Given the description of an element on the screen output the (x, y) to click on. 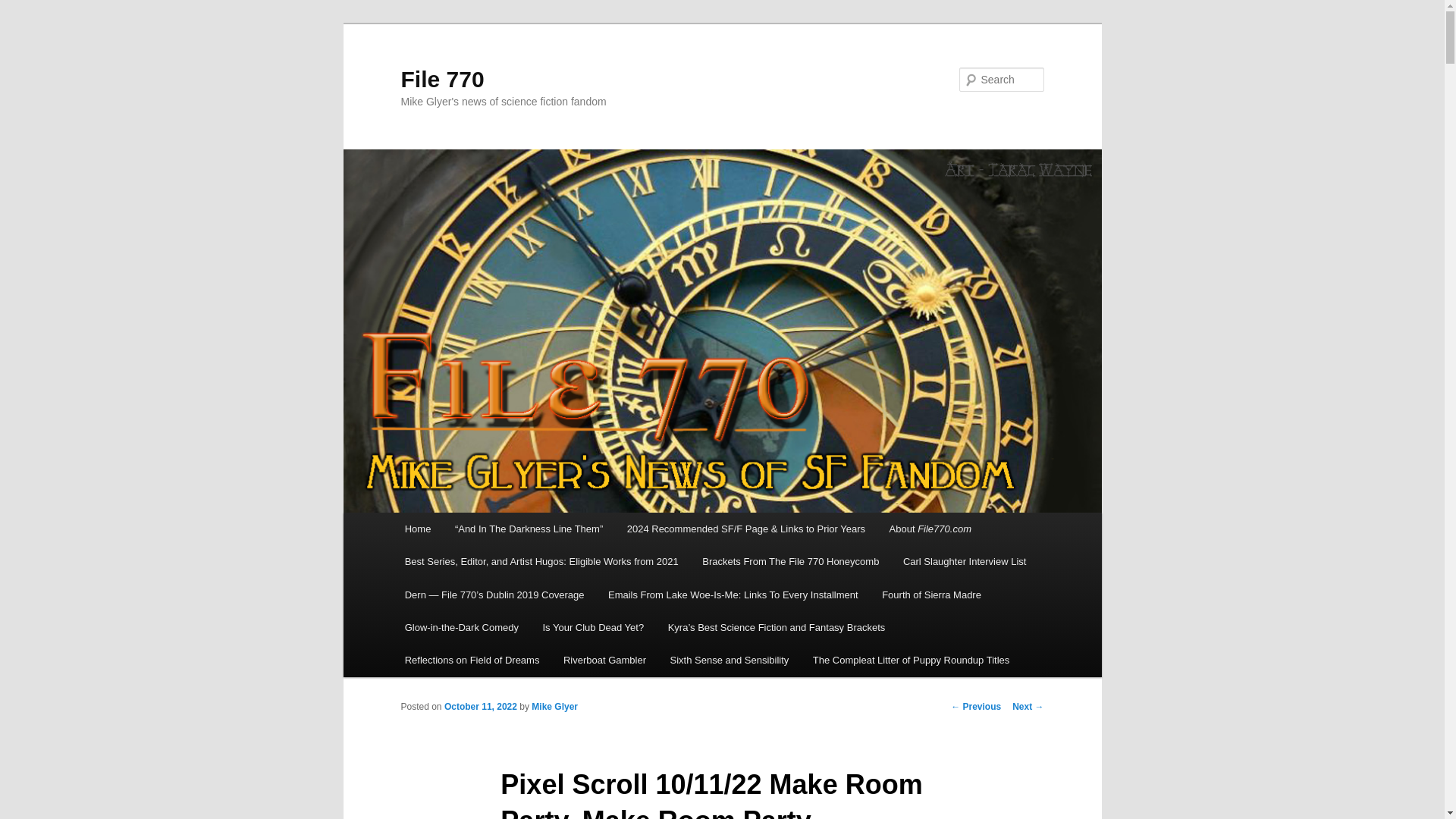
Home (417, 528)
Sixth Sense and Sensibility (729, 659)
View all posts by Mike Glyer (554, 706)
Brackets From The File 770 Honeycomb (790, 561)
Emails From Lake Woe-Is-Me: Links To Every Installment (732, 594)
The Compleat Litter of Puppy Roundup Titles (911, 659)
Glow-in-the-Dark Comedy (462, 626)
Riverboat Gambler (604, 659)
6:35 pm (480, 706)
About File770.com (930, 528)
Fourth of Sierra Madre (930, 594)
Search (24, 8)
Is Your Club Dead Yet? (593, 626)
